Given the description of an element on the screen output the (x, y) to click on. 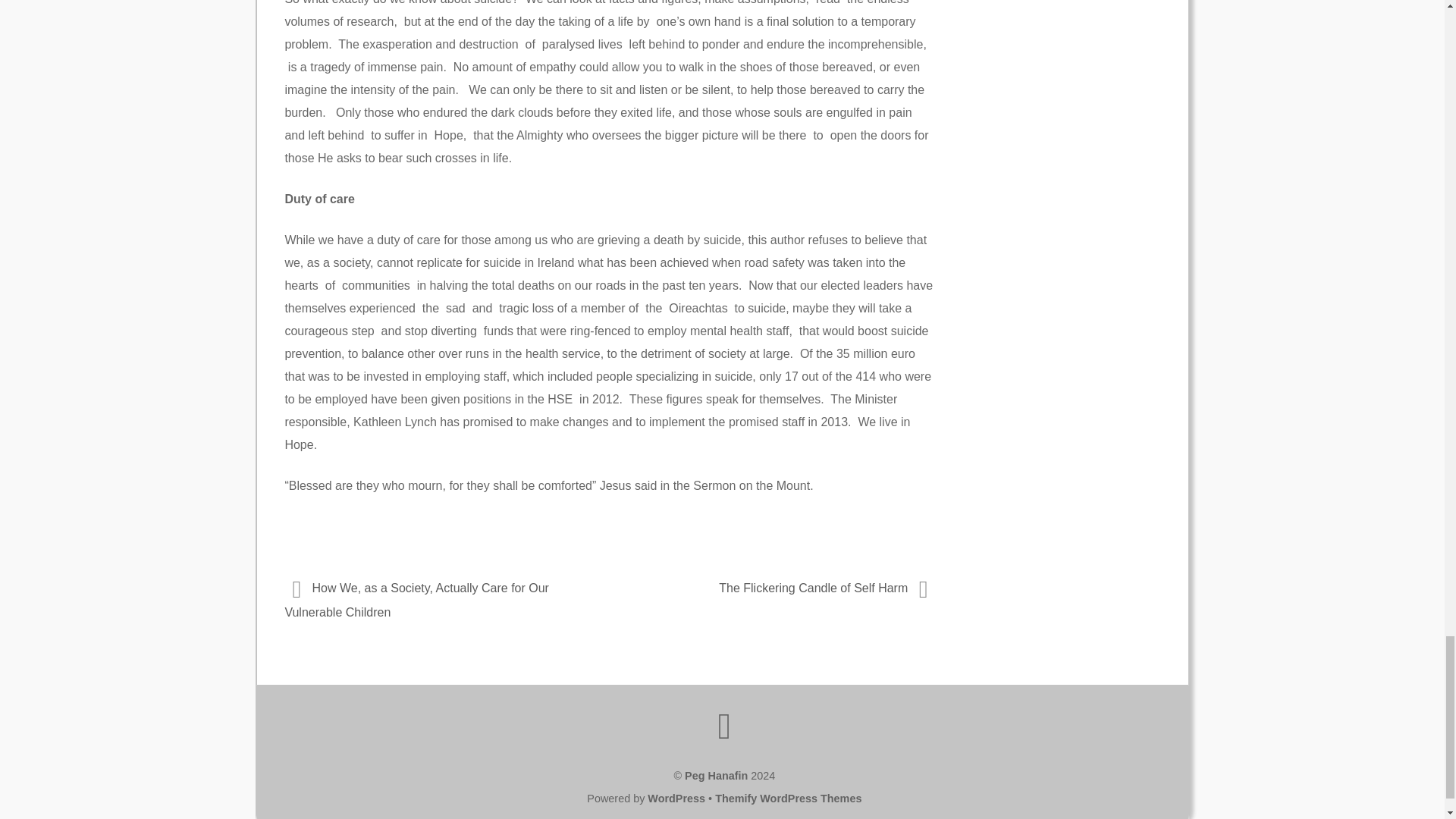
Themify WordPress Themes (787, 798)
The Flickering Candle of Self Harm (781, 589)
WordPress (675, 798)
Peg Hanafin (716, 775)
